Given the description of an element on the screen output the (x, y) to click on. 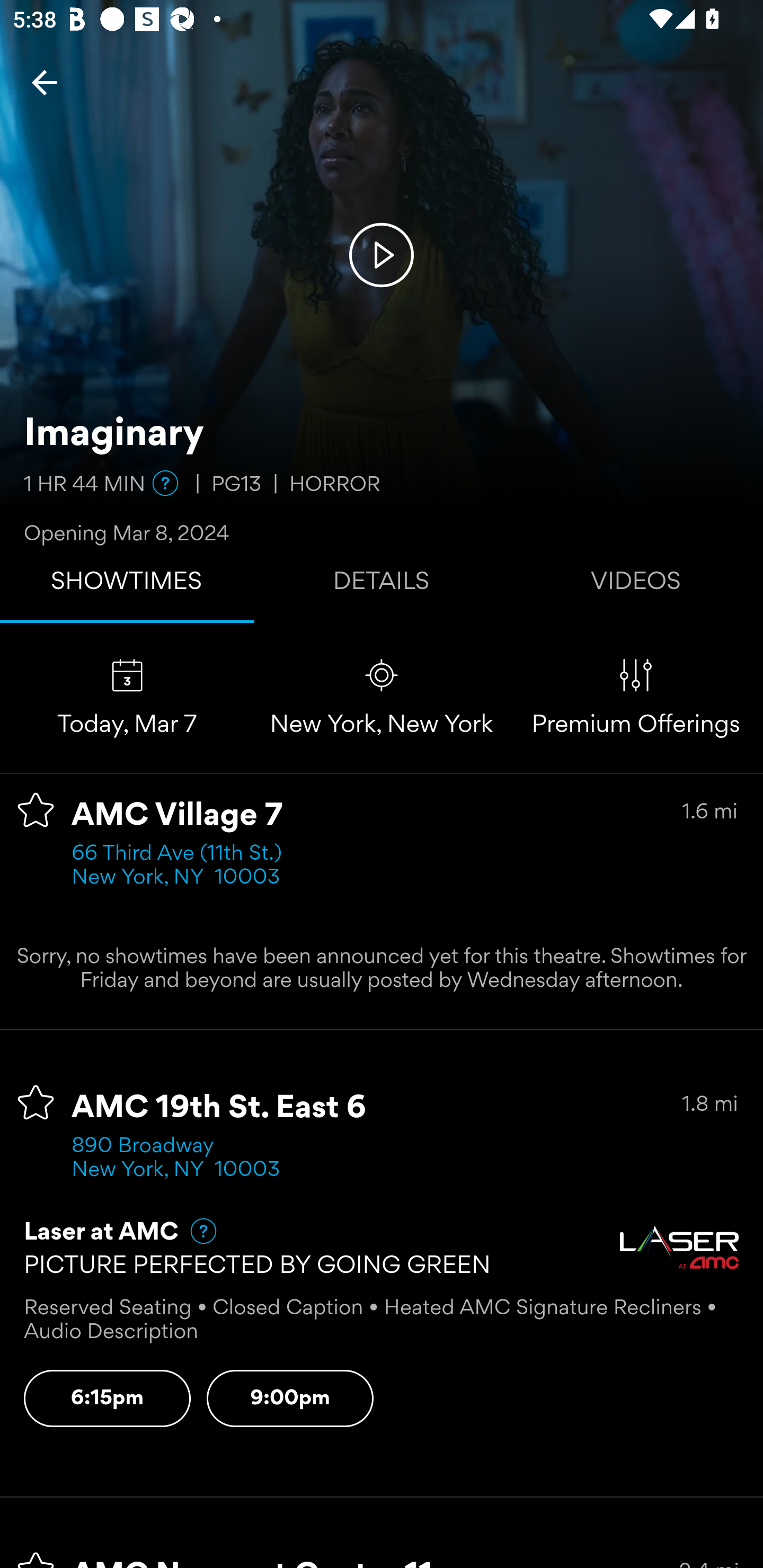
Back (44, 82)
Play (381, 254)
Help (165, 482)
SHOWTIMES
Tab 1 of 3 (127, 584)
DETAILS
Tab 2 of 3 (381, 584)
VIDEOS
Tab 3 of 3 (635, 584)
Change selected day
Today, Mar 7 (127, 697)
Change location
New York, New York (381, 697)
Premium Offerings
Premium Offerings (635, 697)
AMC Village 7 (177, 816)
66 Third Ave (11th St.)  
New York, NY  10003 (182, 866)
AMC 19th St. East 6 (219, 1108)
890 Broadway  
New York, NY  10003 (176, 1158)
Help (195, 1230)
